Given the description of an element on the screen output the (x, y) to click on. 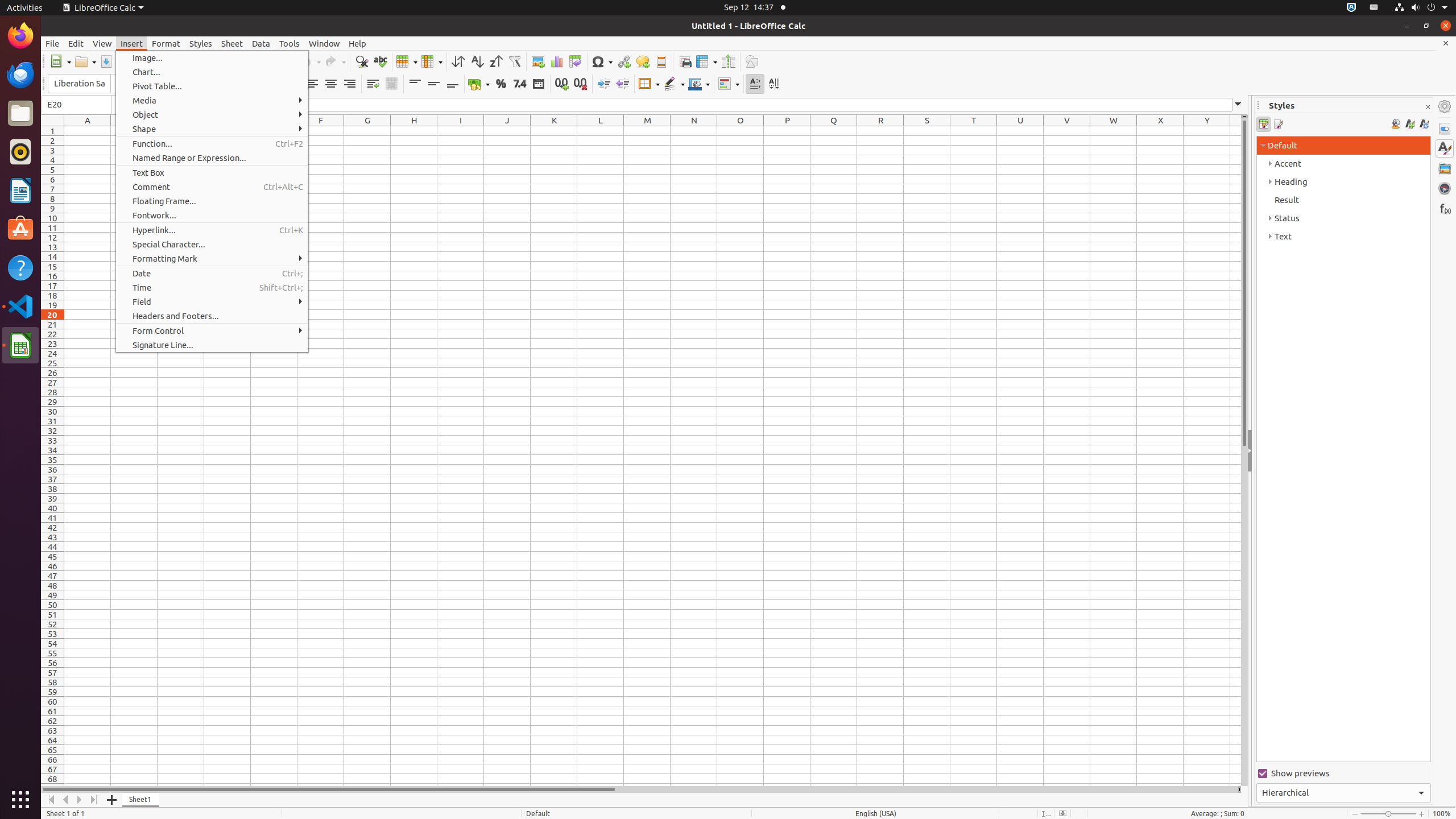
Draw Functions Element type: toggle-button (751, 61)
Fill Format Mode Element type: push-button (1395, 123)
Object Element type: menu (212, 114)
View Element type: menu (102, 43)
New Element type: push-button (59, 61)
